Given the description of an element on the screen output the (x, y) to click on. 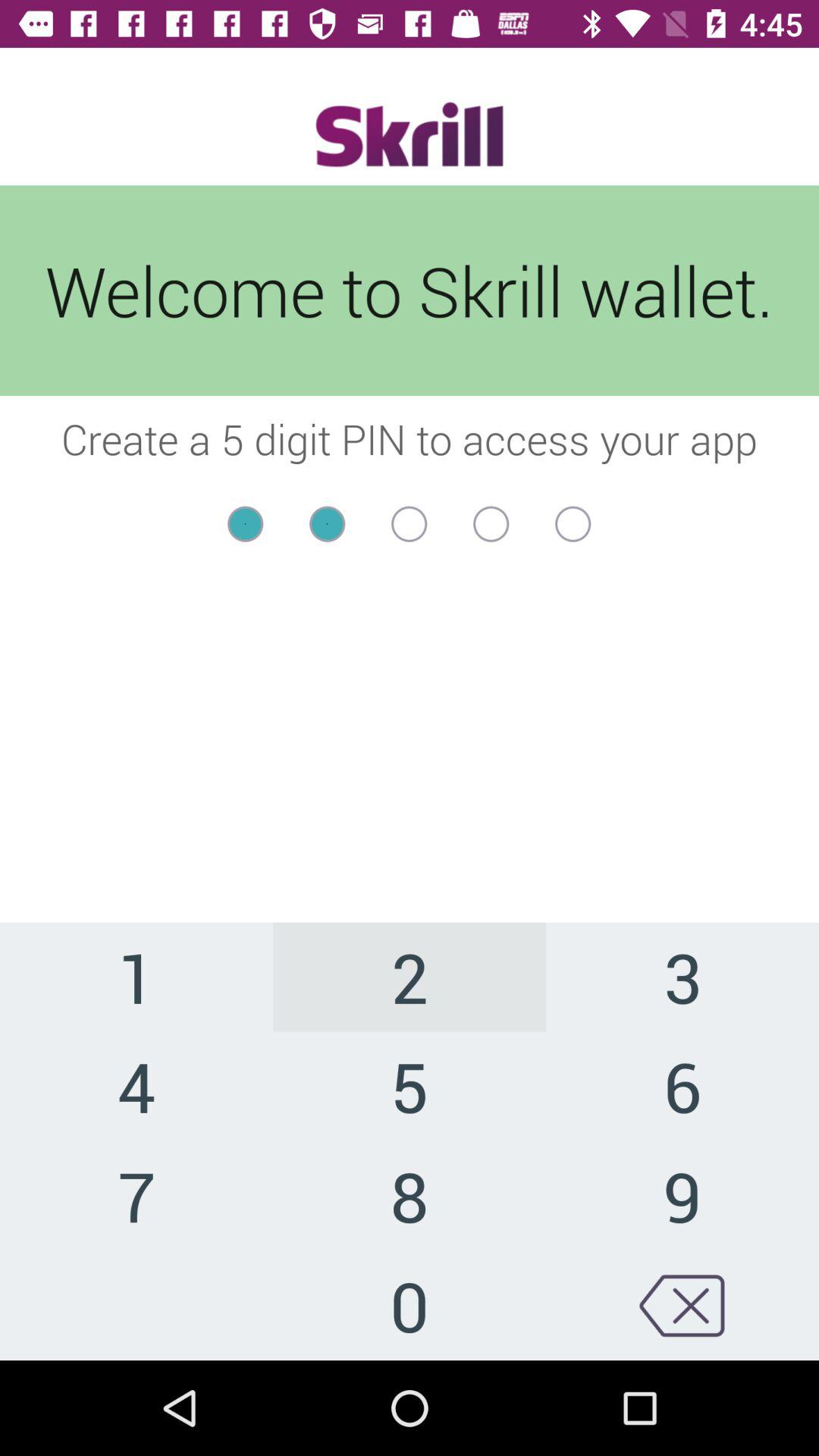
launch the icon to the right of 7 (409, 1305)
